Given the description of an element on the screen output the (x, y) to click on. 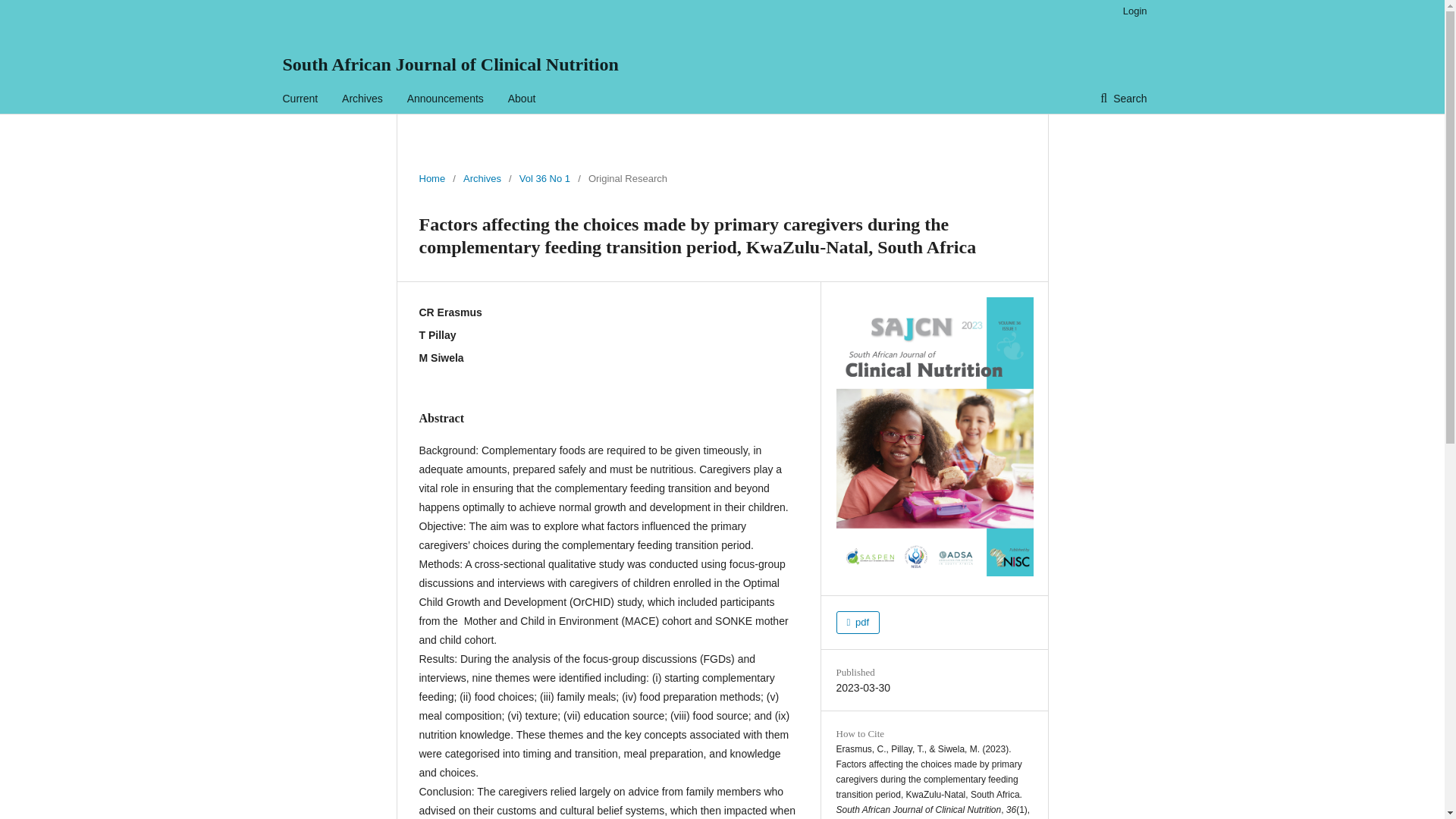
Home (432, 178)
Archives (481, 178)
Vol 36 No 1 (544, 178)
Announcements (445, 98)
pdf (857, 621)
About (521, 98)
South African Journal of Clinical Nutrition (449, 64)
Archives (362, 98)
Login (1131, 11)
Current (299, 98)
